Given the description of an element on the screen output the (x, y) to click on. 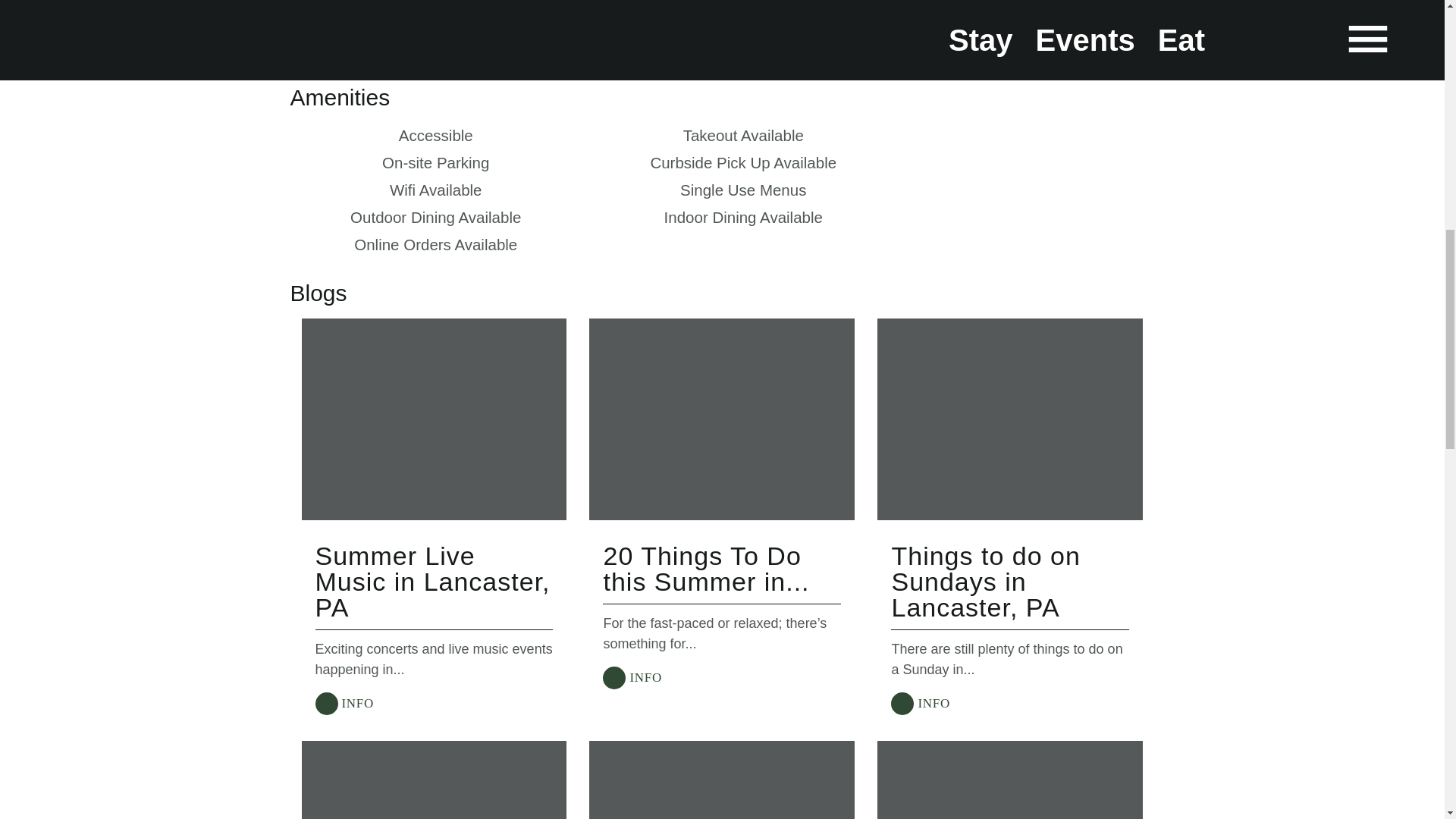
INFO (631, 677)
Things to do on Sundays in Lancaster, PA (985, 581)
20 Things To Do this Summer in... (705, 568)
INFO (920, 703)
Summer Live Music in Lancaster, PA (432, 581)
INFO (345, 703)
